Given the description of an element on the screen output the (x, y) to click on. 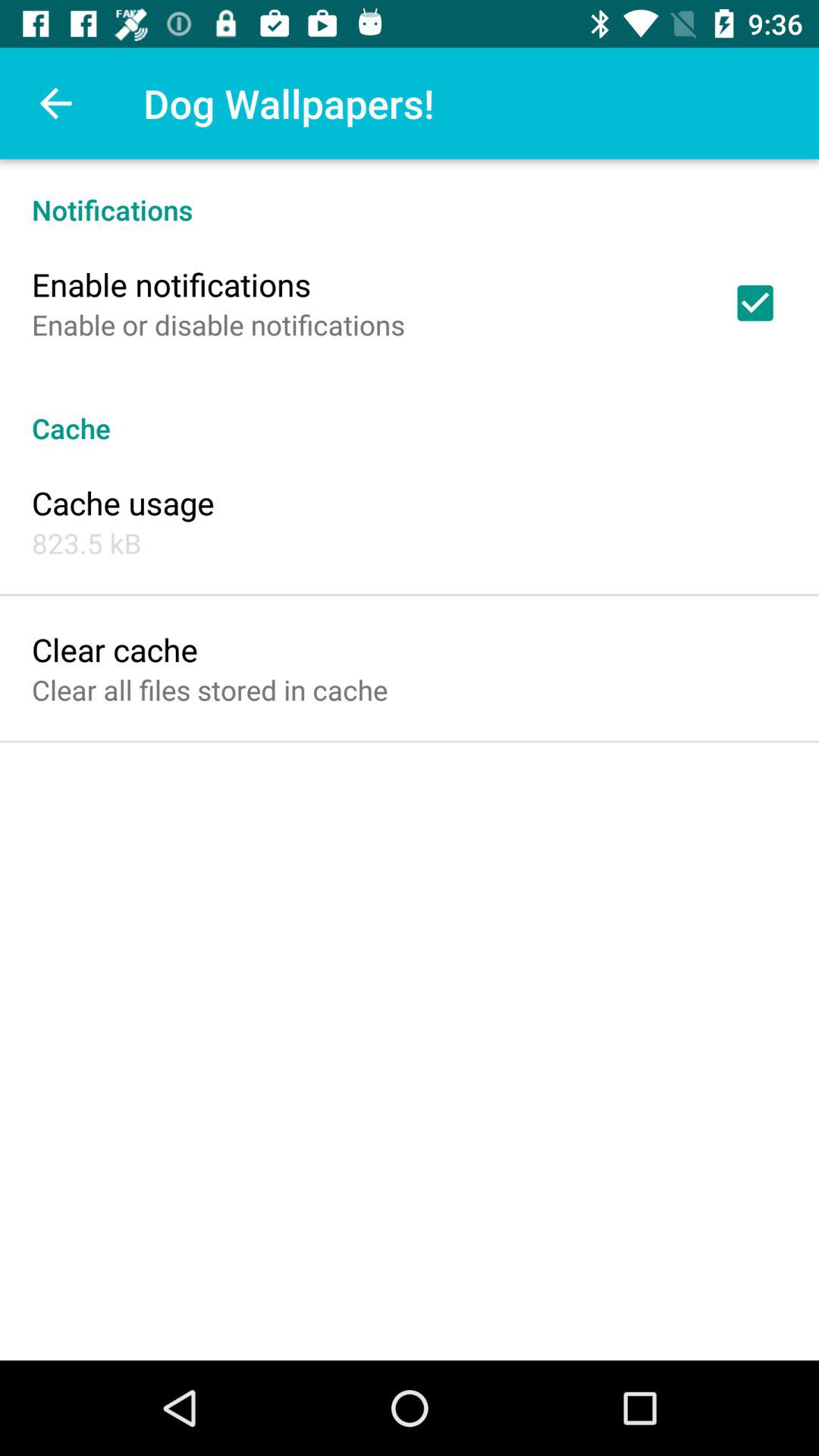
open item above the cache item (217, 324)
